Given the description of an element on the screen output the (x, y) to click on. 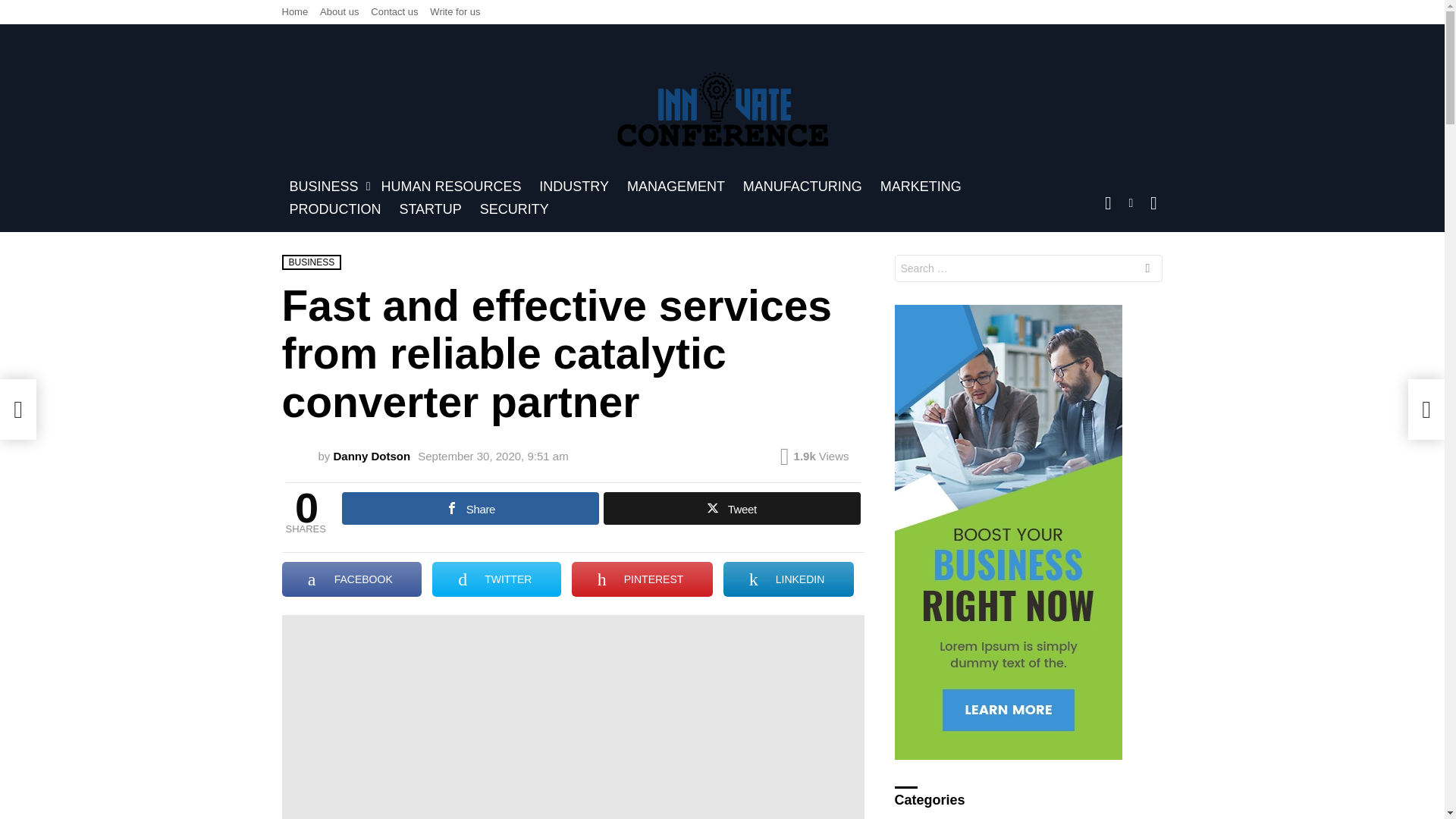
INDUSTRY (573, 186)
BUSINESS (312, 262)
About us (339, 12)
Share on Facebook (352, 579)
Share on LinkedIn (788, 579)
BUSINESS (326, 186)
MARKETING (920, 186)
Tweet (732, 508)
MANUFACTURING (802, 186)
STARTUP (429, 209)
